Given the description of an element on the screen output the (x, y) to click on. 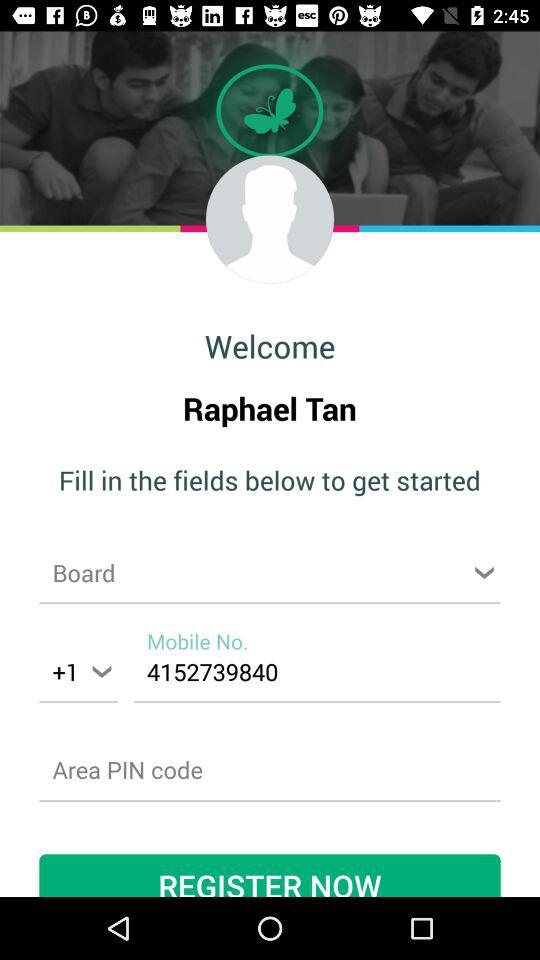
choose profile picture (269, 219)
